Given the description of an element on the screen output the (x, y) to click on. 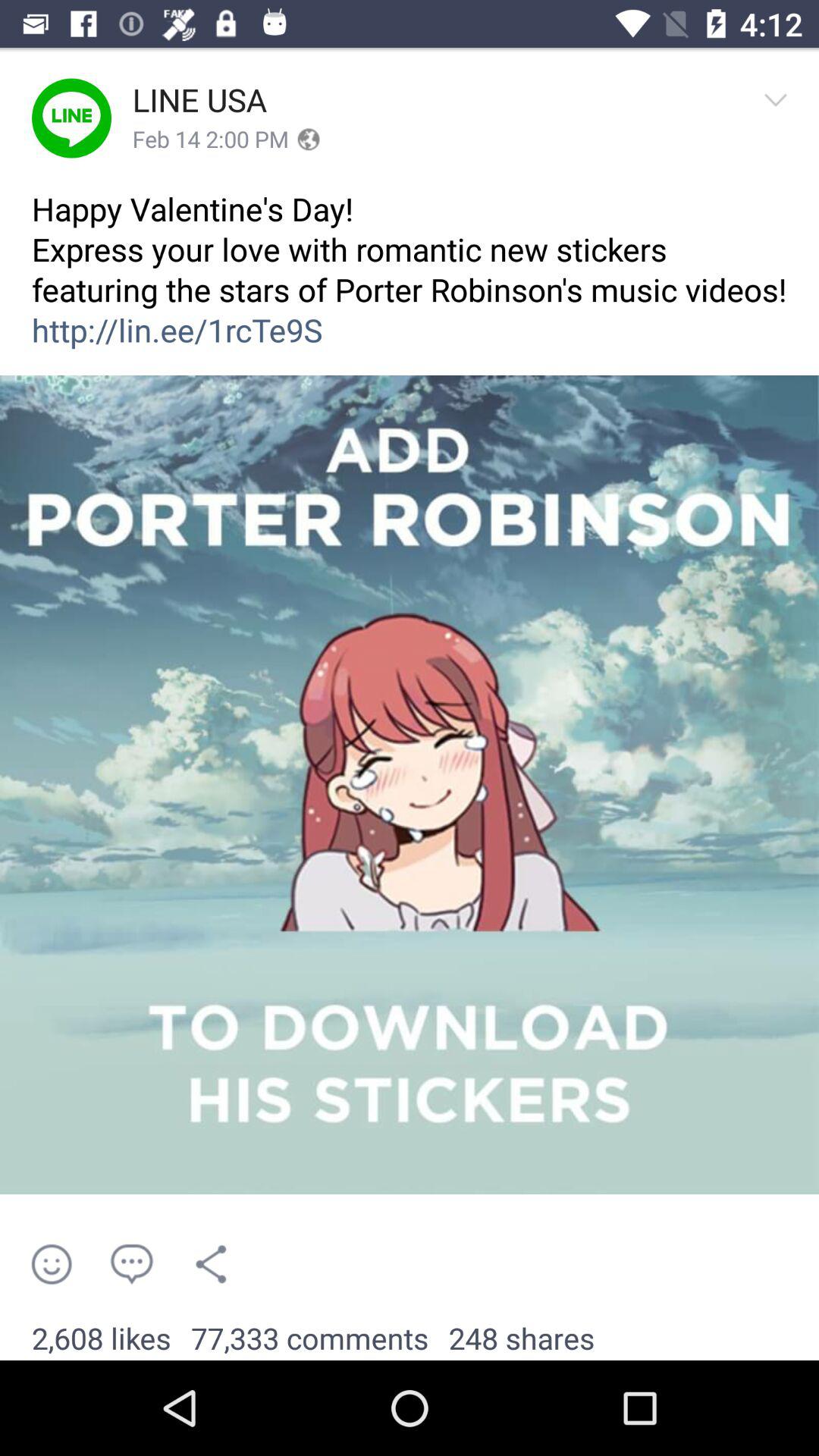
scroll until the 2,608 likes app (101, 1339)
